Given the description of an element on the screen output the (x, y) to click on. 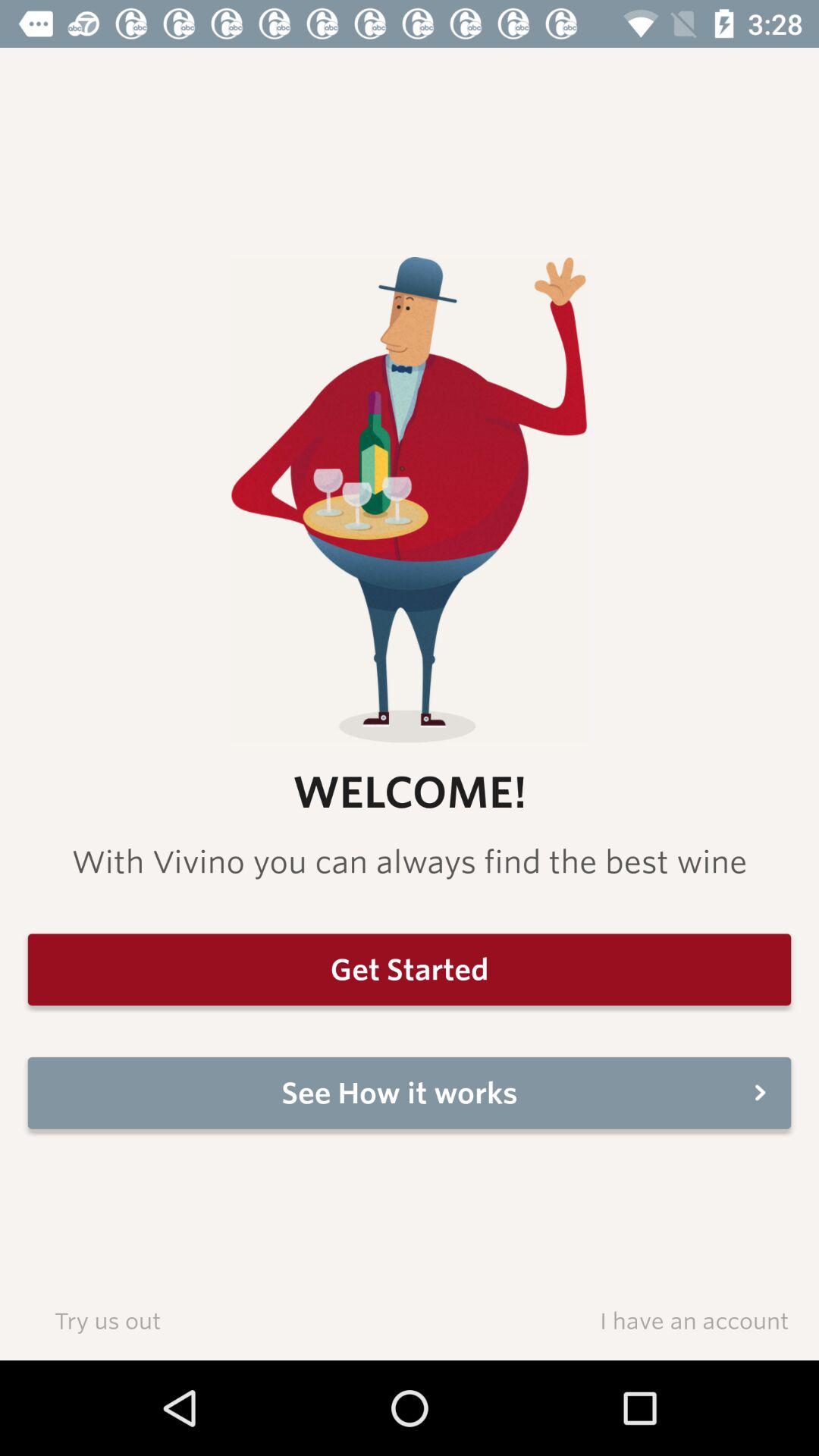
turn off i have an icon (694, 1320)
